Given the description of an element on the screen output the (x, y) to click on. 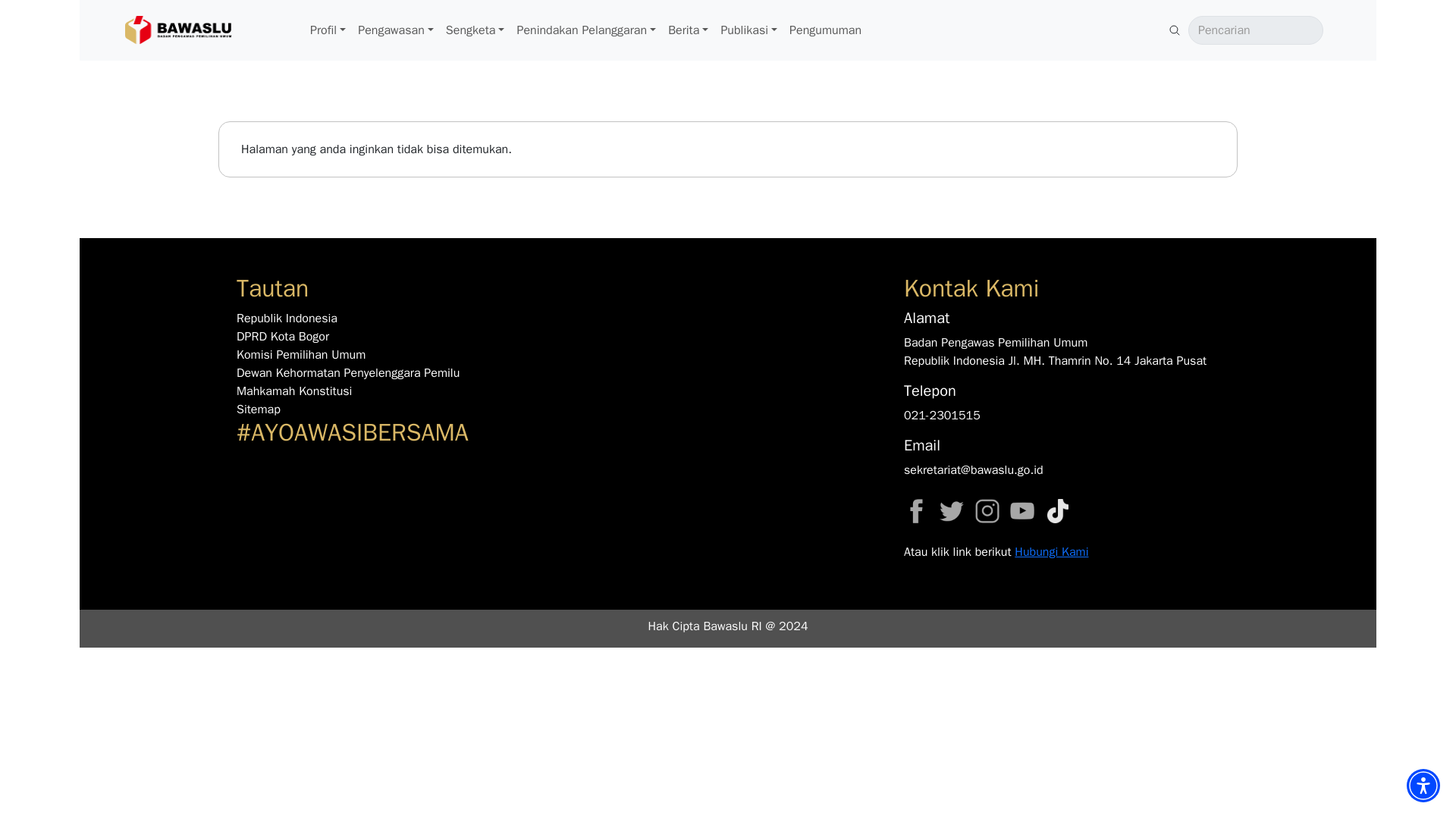
Penindakan Pelanggaran (586, 30)
Profil (328, 30)
Masukkan istilah yang ingin anda cari. (1255, 30)
Sengketa (475, 30)
Berita (688, 30)
Pengumuman (825, 30)
Publikasi (748, 30)
Pengawasan (395, 30)
